Given the description of an element on the screen output the (x, y) to click on. 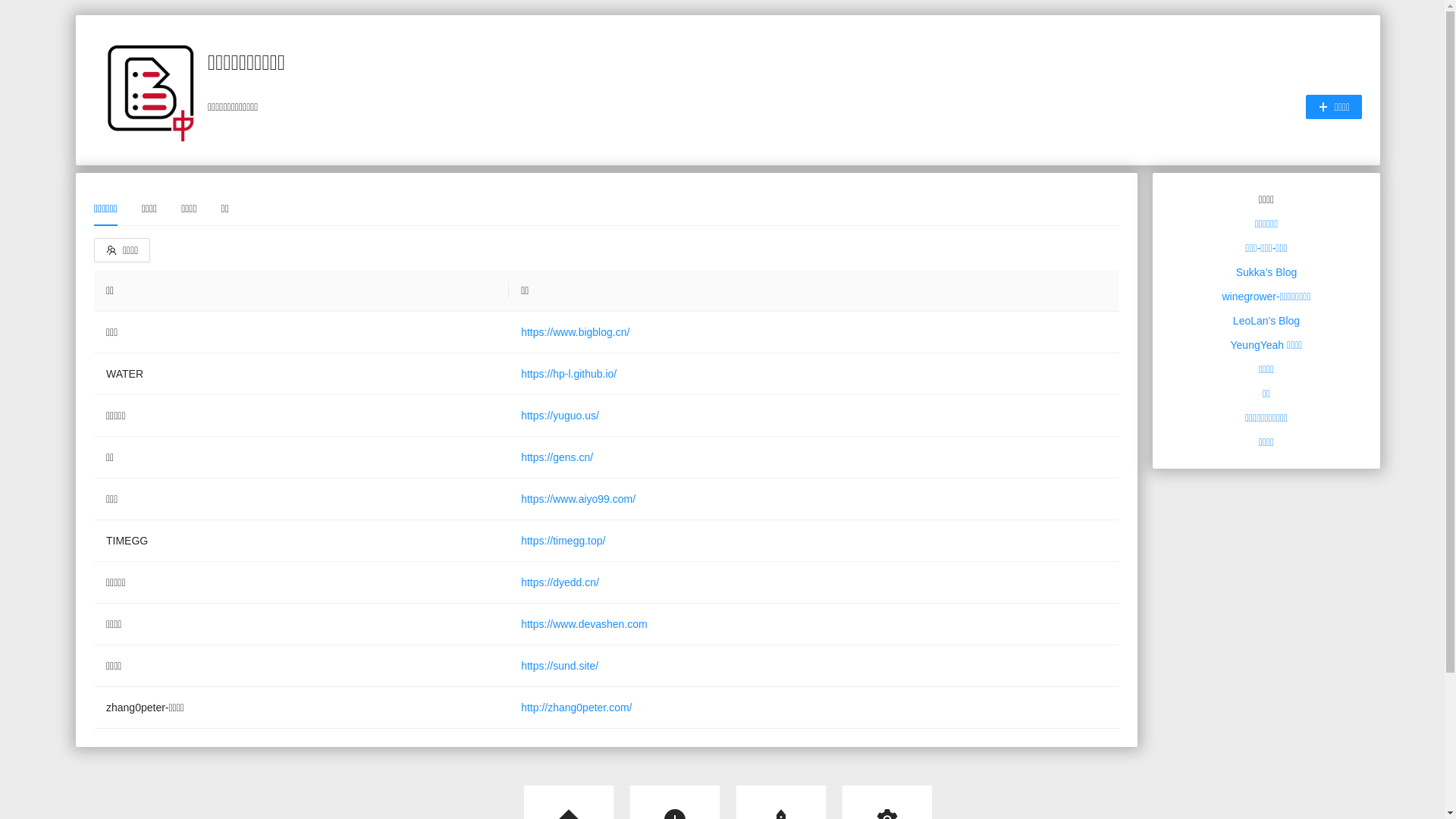
https://www.devashen.com Element type: text (583, 624)
LeoLan's Blog Element type: text (1266, 320)
https://yuguo.us/ Element type: text (559, 415)
https://timegg.top/ Element type: text (562, 540)
https://hp-l.github.io/ Element type: text (568, 373)
https://www.aiyo99.com/ Element type: text (577, 498)
https://dyedd.cn/ Element type: text (559, 582)
https://sund.site/ Element type: text (559, 665)
http://zhang0peter.com/ Element type: text (575, 707)
Sukka's Blog Element type: text (1266, 272)
https://gens.cn/ Element type: text (556, 457)
https://www.bigblog.cn/ Element type: text (574, 332)
